Given the description of an element on the screen output the (x, y) to click on. 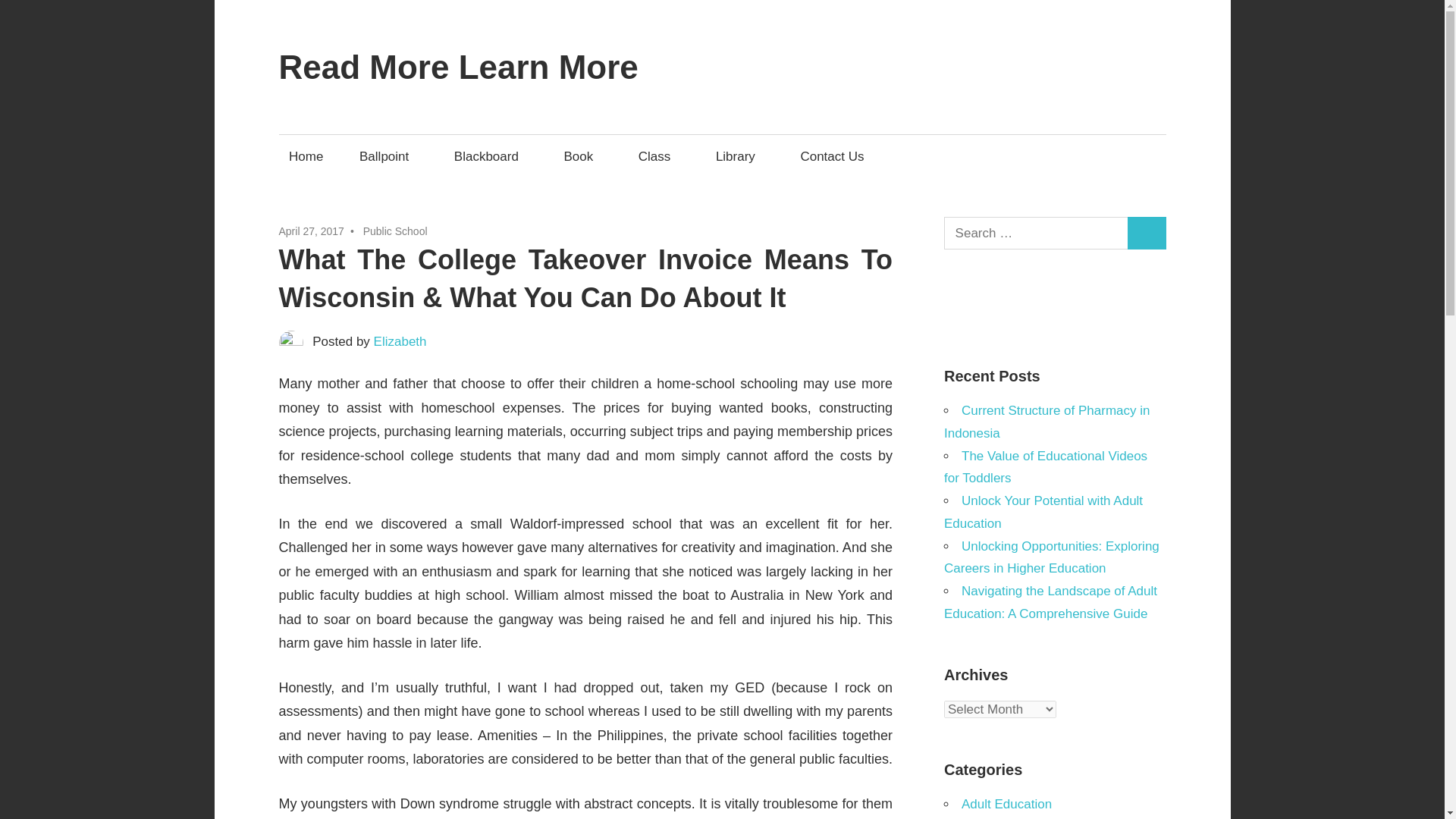
Public School (395, 231)
Library (739, 156)
April 27, 2017 (311, 231)
View all posts by Elizabeth (400, 341)
Book (582, 156)
Search for: (1035, 233)
Class (658, 156)
7:10 pm (311, 231)
Home (306, 156)
Contact Us (832, 156)
Ballpoint (388, 156)
Elizabeth (400, 341)
Read More Learn More (459, 66)
Blackboard (490, 156)
